Given the description of an element on the screen output the (x, y) to click on. 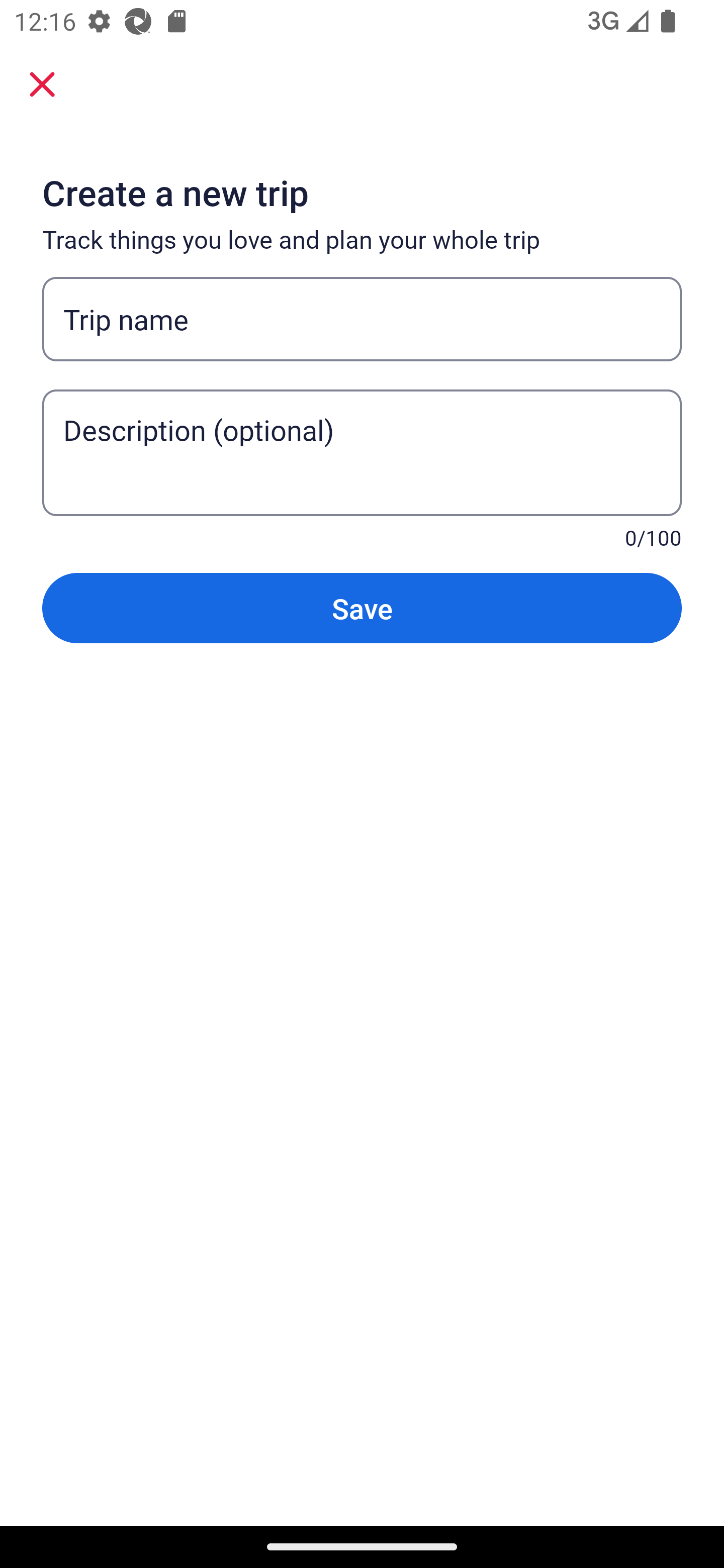
Close (42, 84)
Trip name (361, 318)
Save Button Save (361, 607)
